Given the description of an element on the screen output the (x, y) to click on. 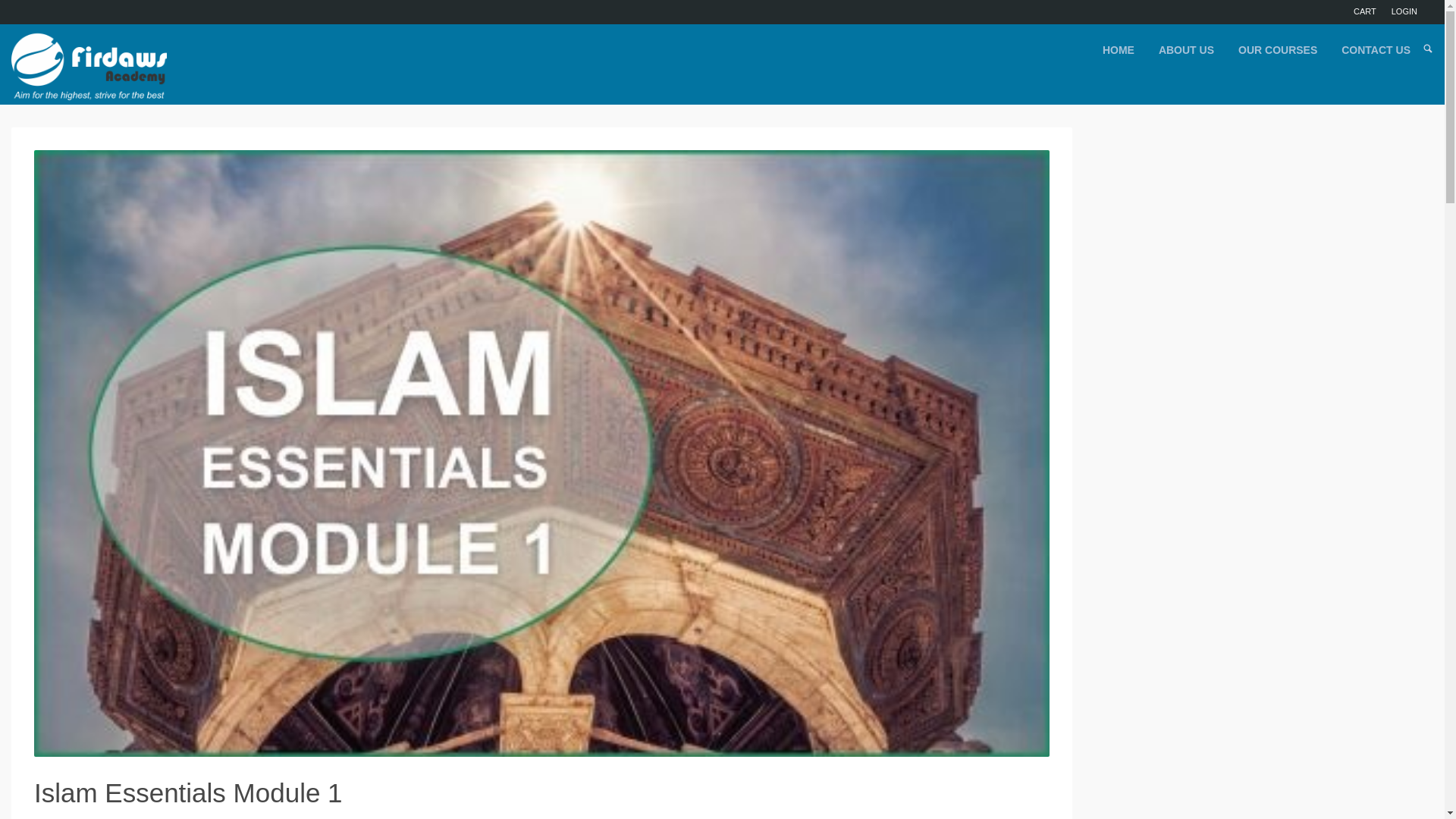
FA-IEM1 Element type: hover (541, 453)
ABOUT US Element type: text (1186, 50)
HOME Element type: text (1118, 50)
OUR COURSES Element type: text (1277, 50)
CART Element type: text (1364, 10)
CONTACT US Element type: text (1375, 50)
LOGIN Element type: text (1404, 12)
